Given the description of an element on the screen output the (x, y) to click on. 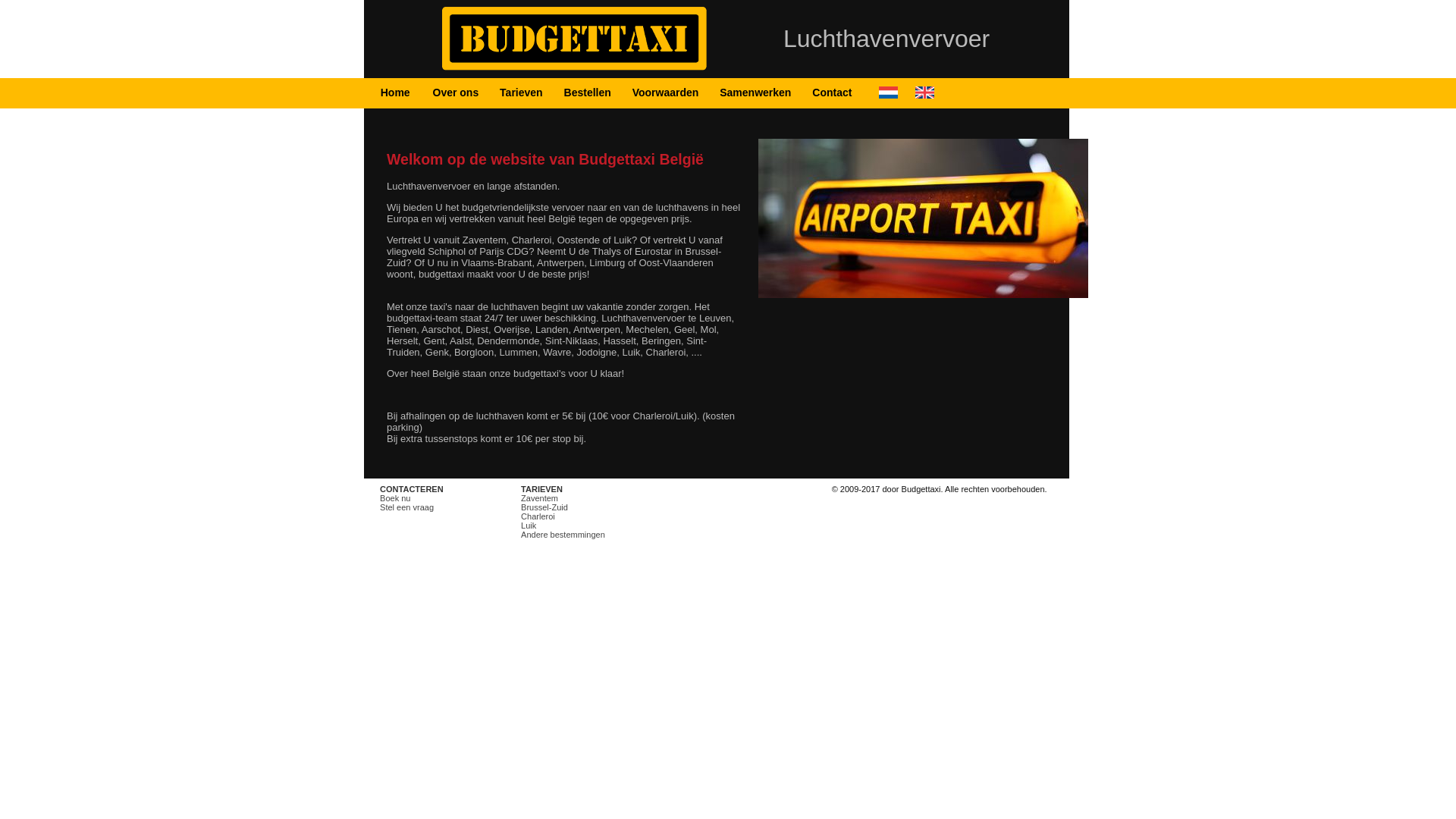
Voorwaarden Element type: text (665, 92)
Luik Element type: text (528, 525)
Contact Element type: text (831, 92)
Stel een vraag Element type: text (406, 506)
Over ons Element type: text (455, 92)
Tarieven Element type: text (521, 92)
Charleroi Element type: text (537, 515)
Brussel-Zuid Element type: text (543, 506)
Bestellen Element type: text (587, 92)
Zaventem Element type: text (539, 497)
Boek nu Element type: text (394, 497)
Samenwerken Element type: text (755, 92)
Andere bestemmingen Element type: text (562, 534)
Home Element type: text (395, 92)
